Given the description of an element on the screen output the (x, y) to click on. 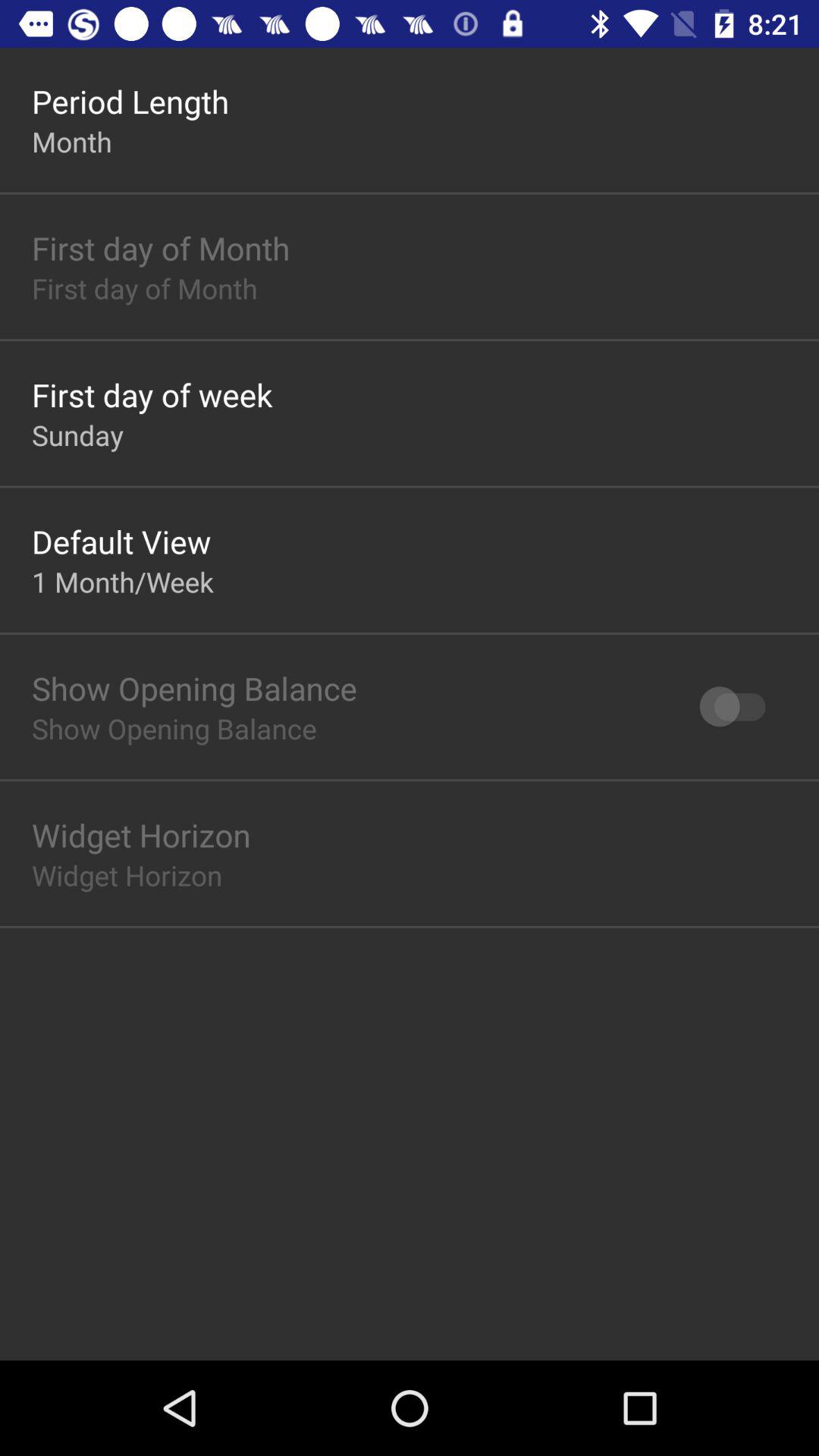
launch icon below default view item (122, 581)
